Given the description of an element on the screen output the (x, y) to click on. 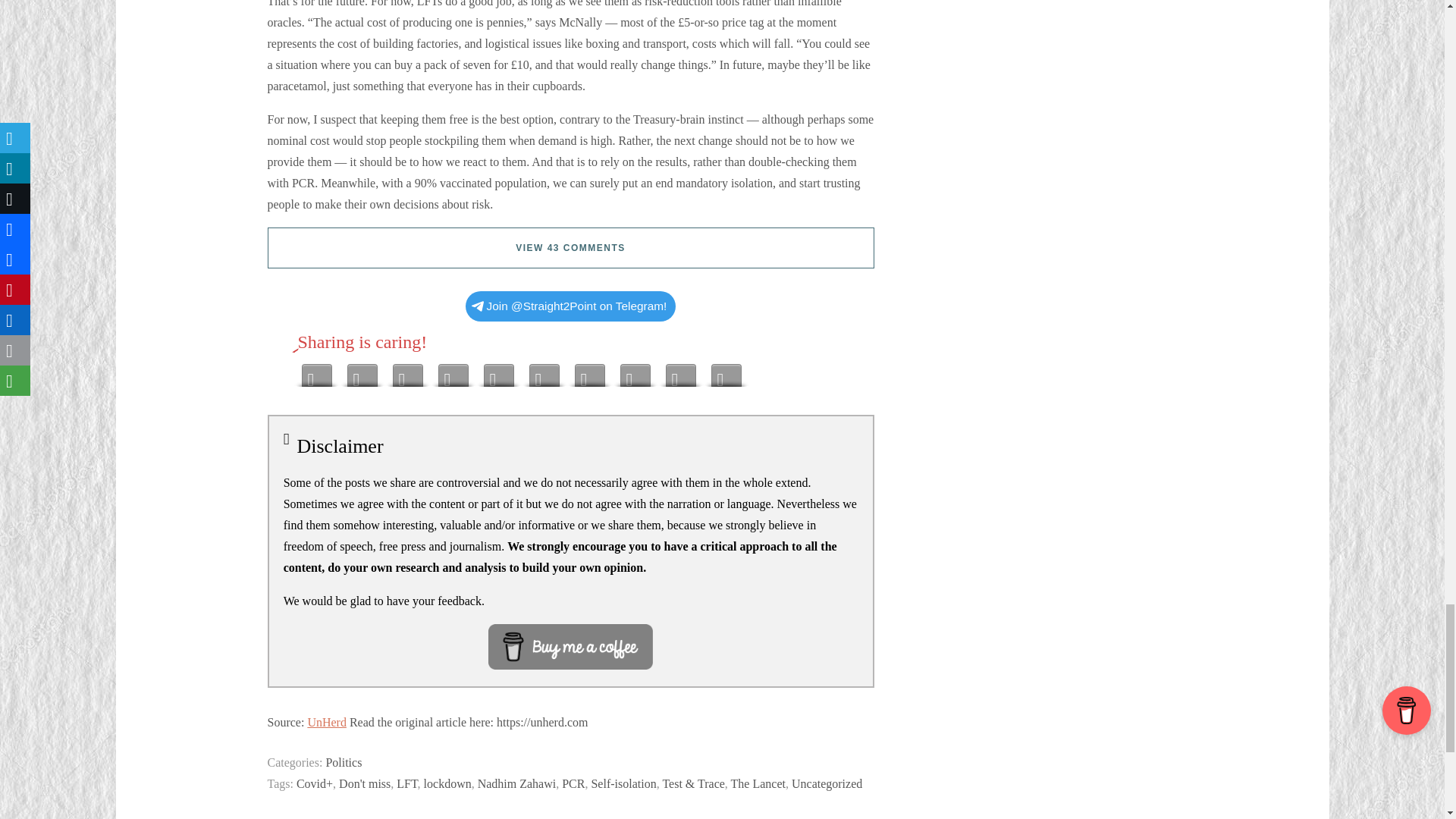
Parler (498, 371)
MeWe (362, 371)
Facebook (407, 371)
Facebook Messenger (453, 371)
More Options (726, 371)
Email This (635, 371)
Telegram (316, 371)
PrintFriendly (680, 371)
LinkedIn (589, 371)
